Given the description of an element on the screen output the (x, y) to click on. 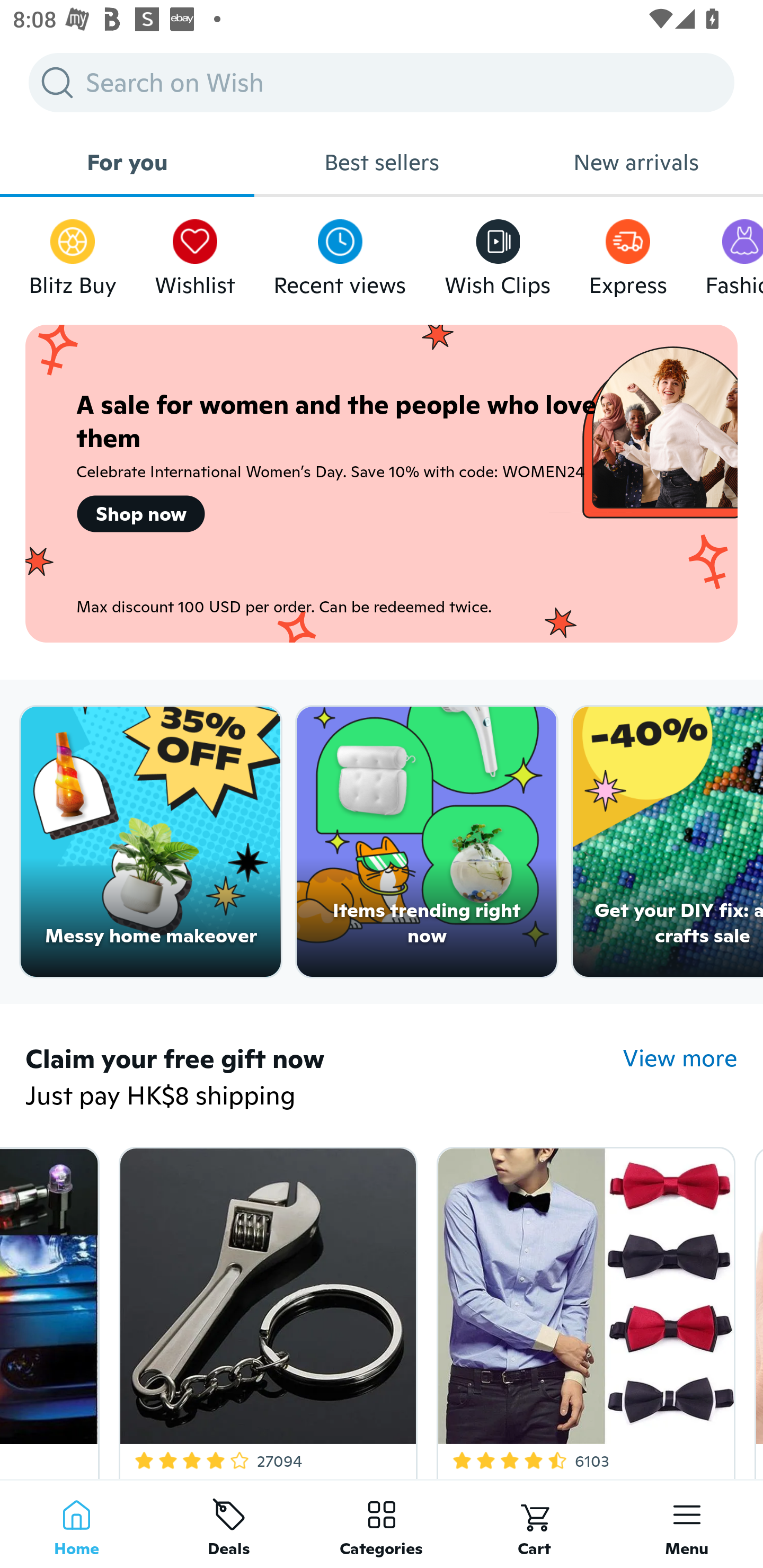
Search on Wish (381, 82)
For you (127, 161)
Best sellers (381, 161)
New arrivals (635, 161)
Blitz Buy (72, 252)
Wishlist (194, 252)
Recent views (339, 252)
Wish Clips (497, 252)
Express (627, 252)
Fashion (734, 252)
Messy home makeover (150, 841)
Items trending right now (426, 841)
Get your DIY fix: arts & crafts sale (668, 841)
Claim your free gift now
Just pay HK$8 shipping (323, 1078)
View more (679, 1058)
4 Star Rating 27094 Free (264, 1308)
4.4 Star Rating 6103 Free (582, 1308)
Home (76, 1523)
Deals (228, 1523)
Categories (381, 1523)
Cart (533, 1523)
Menu (686, 1523)
